Given the description of an element on the screen output the (x, y) to click on. 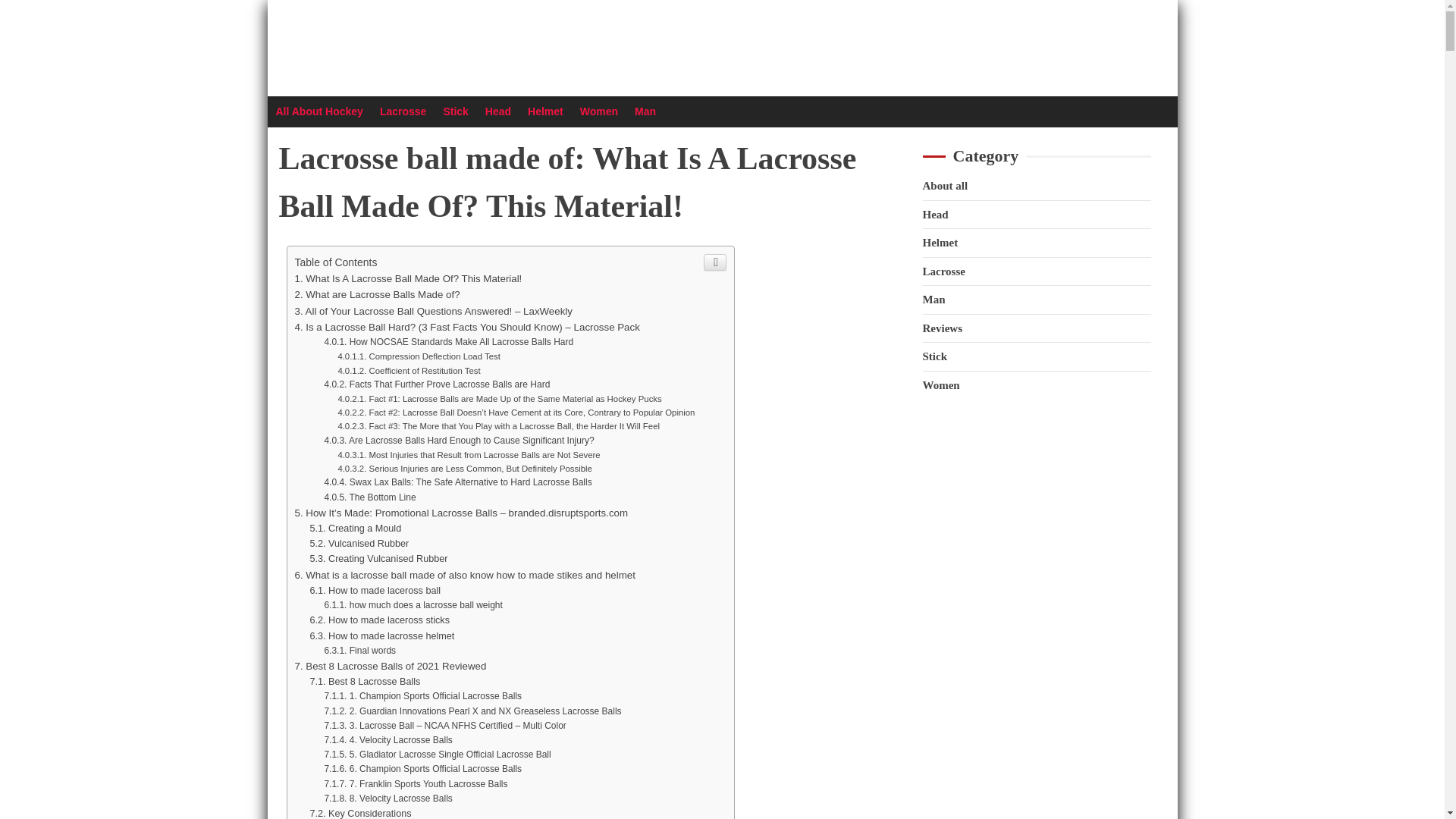
Serious Injuries are Less Common, But Definitely Possible (464, 468)
Women (598, 111)
Are Lacrosse Balls Hard Enough to Cause Significant Injury? (458, 439)
Swax Lax Balls: The Safe Alternative to Hard Lacrosse Balls (457, 481)
Stick (454, 111)
Compression Deflection Load Test (418, 356)
The Bottom Line (368, 497)
Lacrosse (403, 111)
What are Lacrosse Balls Made of? (377, 294)
Man (645, 111)
What are Lacrosse Balls Made of? (377, 294)
Coefficient of Restitution Test (408, 369)
Coefficient of Restitution Test (408, 369)
Creating a Mould (354, 528)
What Is A Lacrosse Ball Made Of? This Material! (407, 278)
